Given the description of an element on the screen output the (x, y) to click on. 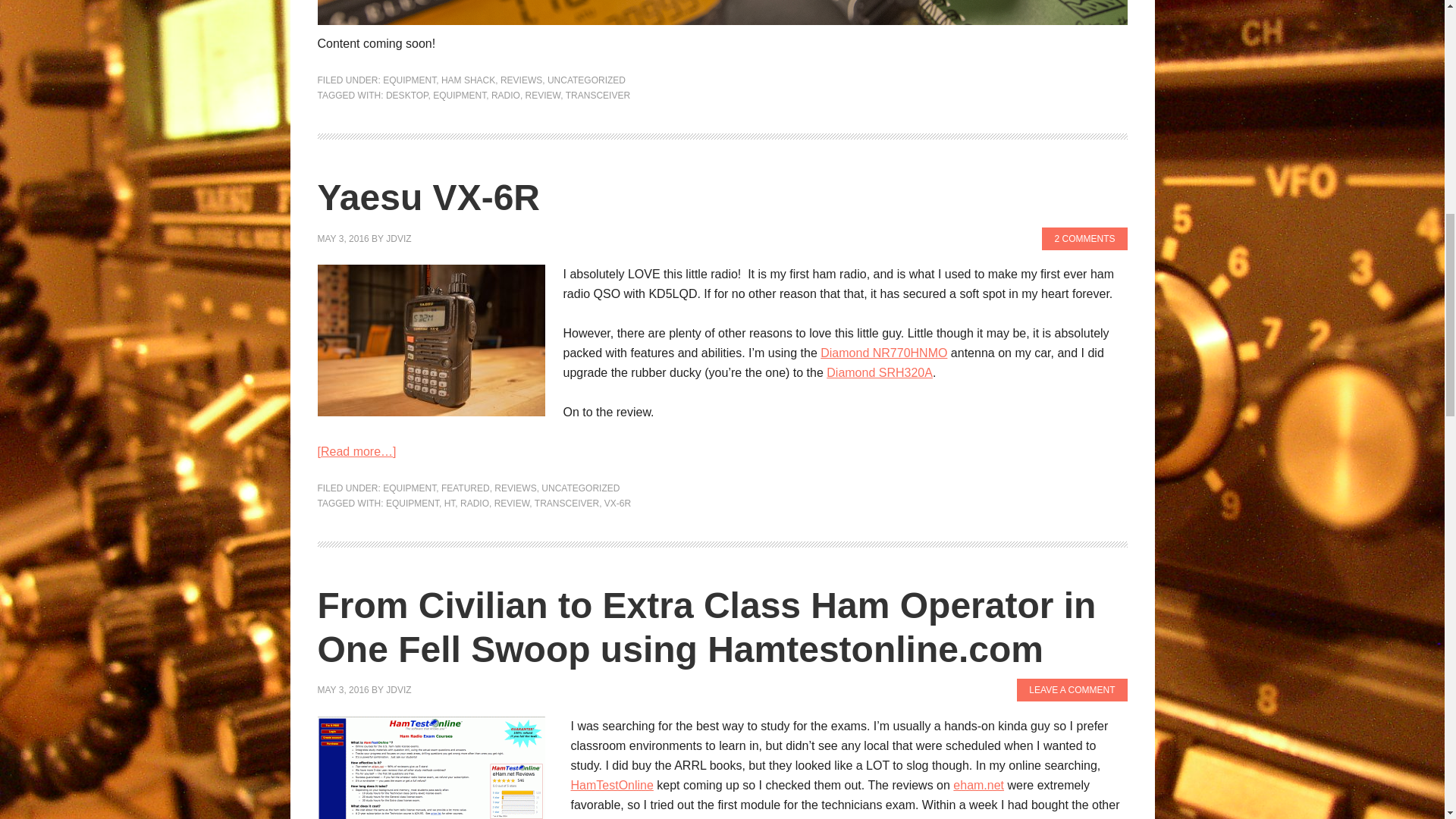
EQUIPMENT (459, 95)
Yaesu VX-6R (427, 197)
TRANSCEIVER (598, 95)
2 COMMENTS (1084, 238)
REVIEW (542, 95)
UNCATEGORIZED (586, 80)
HAM SHACK (468, 80)
JDVIZ (397, 238)
EQUIPMENT (408, 80)
Diamond SRH320A (880, 372)
RADIO (505, 95)
Diamond NR770HNMO (884, 352)
DESKTOP (406, 95)
REVIEWS (520, 80)
